Given the description of an element on the screen output the (x, y) to click on. 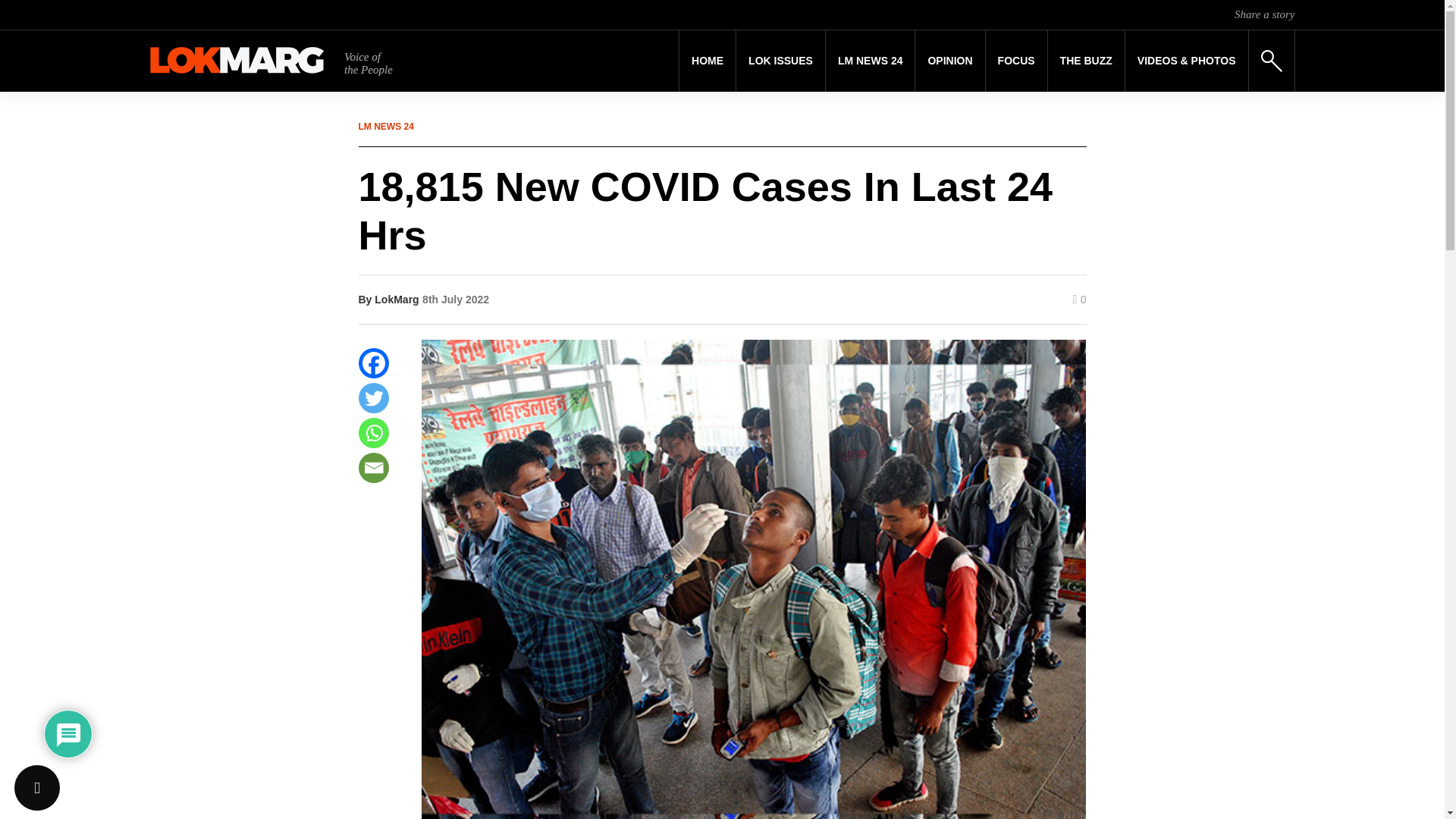
Home (707, 60)
Focus (1015, 60)
Share a story (1264, 14)
LOK ISSUES (780, 60)
LM News 24 (870, 60)
Facebook (373, 363)
Lok Issues (780, 60)
Opinion (949, 60)
THE BUZZ (1086, 60)
HOME (707, 60)
FOCUS (1015, 60)
LM NEWS 24 (870, 60)
LokMarg (396, 299)
Whatsapp (373, 432)
THE BUZZ (1086, 60)
